Given the description of an element on the screen output the (x, y) to click on. 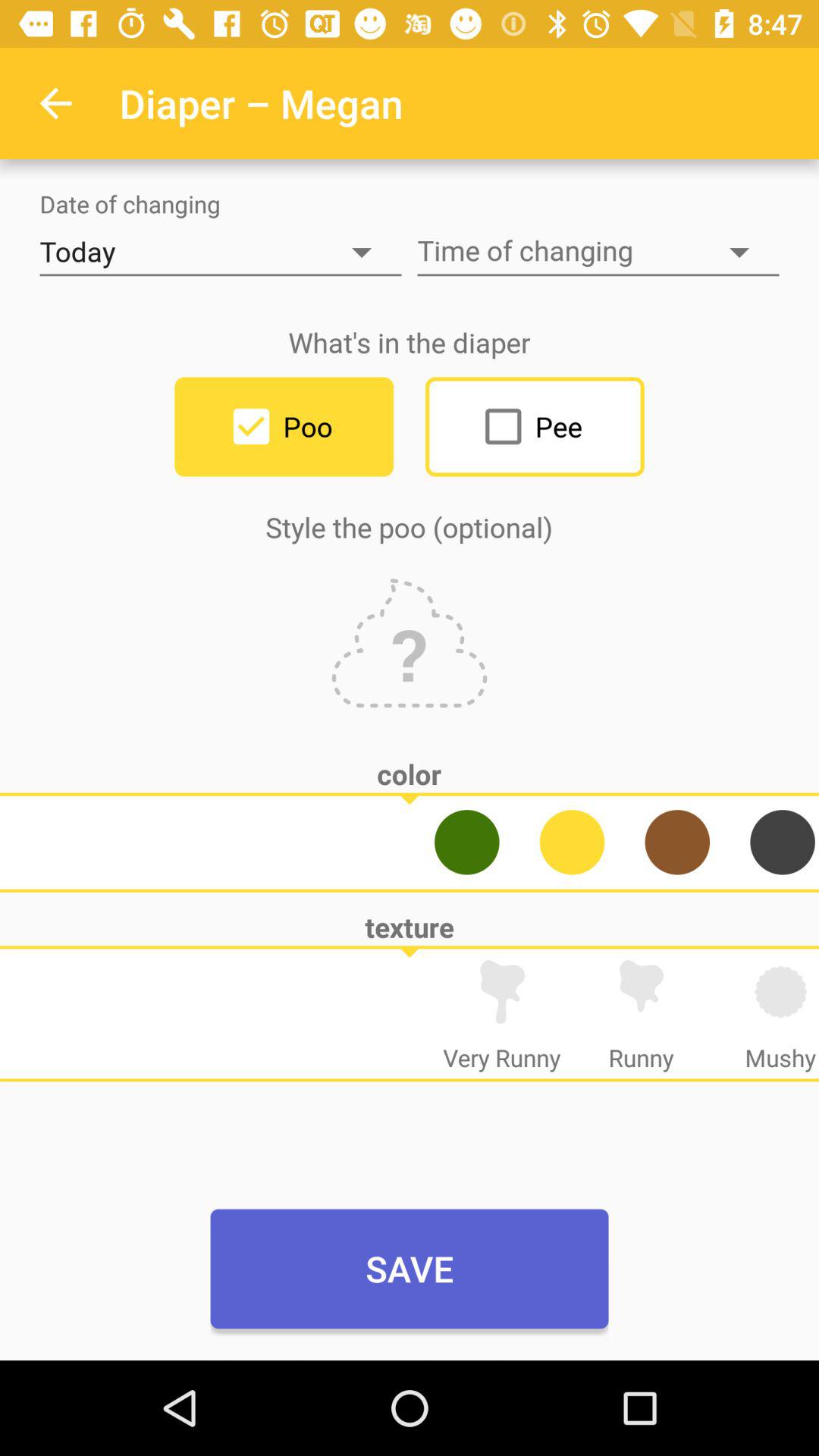
choose this color (782, 842)
